Given the description of an element on the screen output the (x, y) to click on. 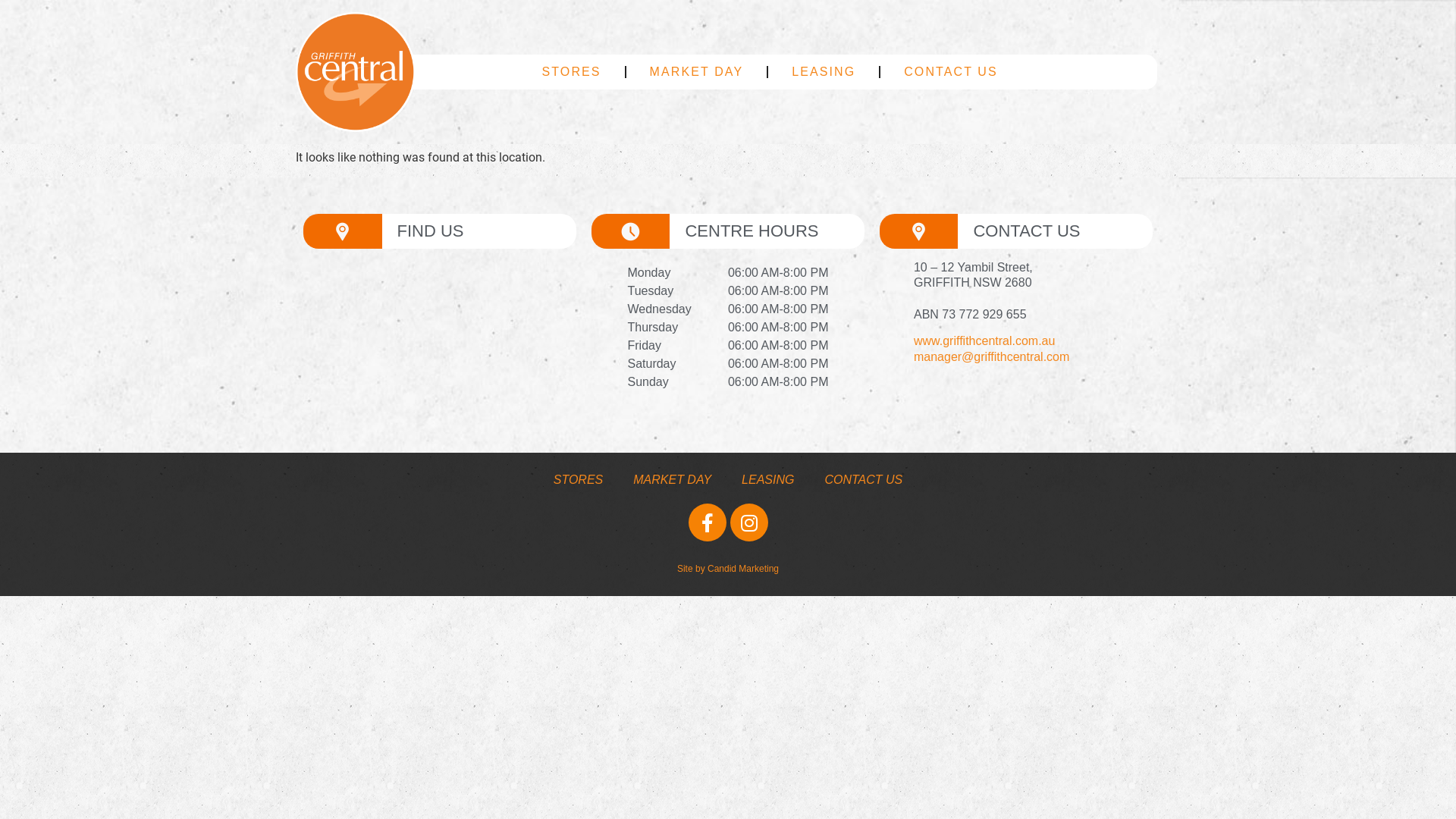
CONTACT US Element type: text (929, 61)
www.griffithcentral.com.au Element type: text (983, 340)
MARKET DAY Element type: text (672, 479)
CONTACT US Element type: text (950, 71)
RELOJ Element type: hover (630, 231)
UBICACION Element type: hover (341, 231)
MARKET DAY Element type: text (675, 61)
MARKET DAY Element type: text (696, 71)
UBICACION Element type: hover (918, 231)
CONTACT US Element type: text (863, 479)
STORES Element type: text (550, 61)
Site by Candid Marketing Element type: text (727, 568)
LEASING Element type: text (801, 61)
STORES Element type: text (571, 71)
STORES Element type: text (578, 479)
LEASING Element type: text (823, 71)
LEASING Element type: text (767, 479)
manager@griffithcentral.com Element type: text (991, 356)
10 - 12 Yambil Street, GRIFFITH NSW 2680 ABN 73 772 929 655 Element type: hover (439, 332)
